Given the description of an element on the screen output the (x, y) to click on. 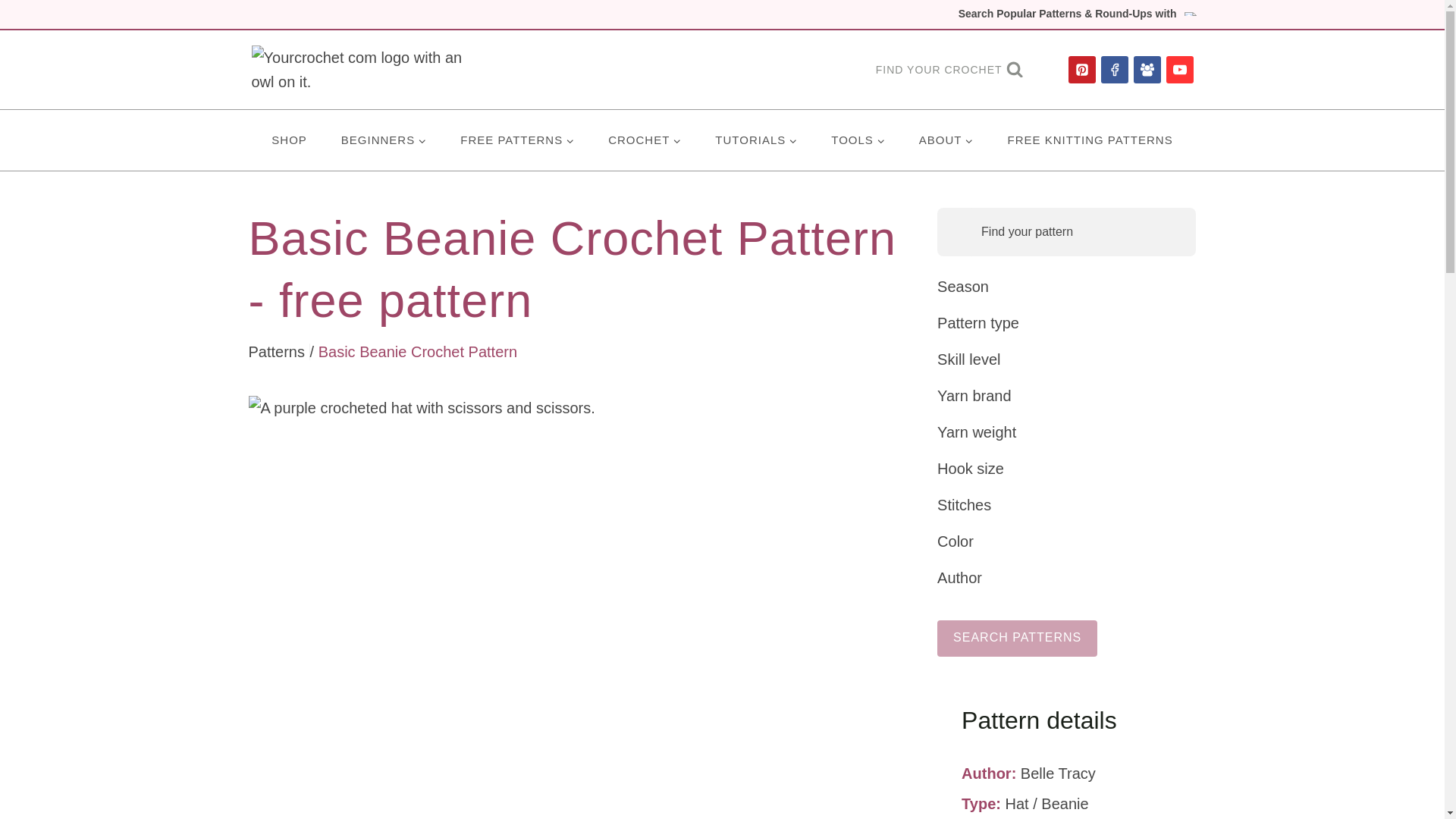
BEGINNERS (382, 139)
SHOP (289, 139)
CROCHET (644, 139)
FIND YOUR CROCHET (949, 69)
FREE PATTERNS (517, 139)
